Given the description of an element on the screen output the (x, y) to click on. 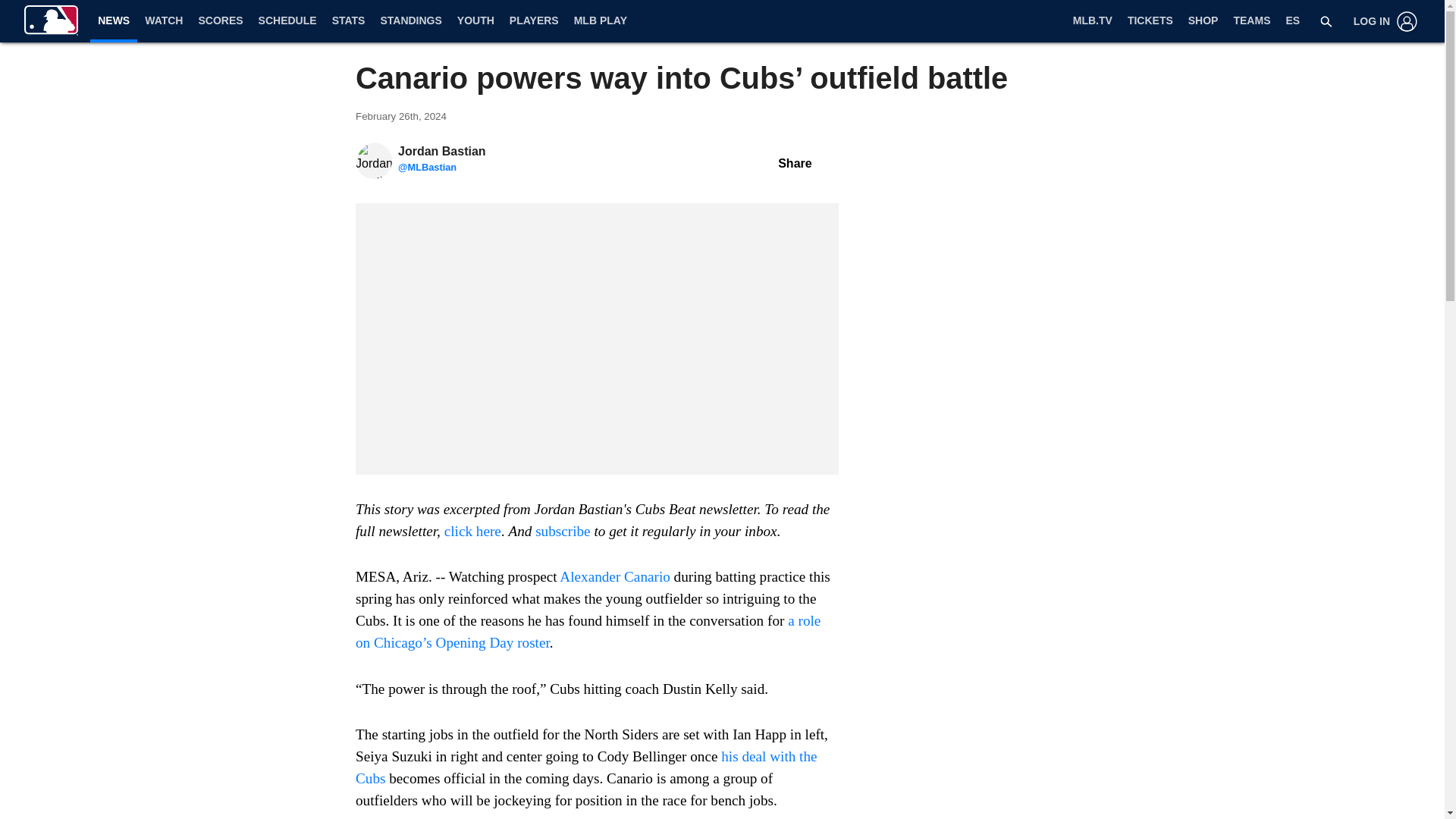
WATCH (163, 21)
SCORES (220, 21)
STANDINGS (410, 21)
search-117700 (1326, 21)
STATS (348, 21)
SCHEDULE (287, 21)
NEWS (113, 19)
